Given the description of an element on the screen output the (x, y) to click on. 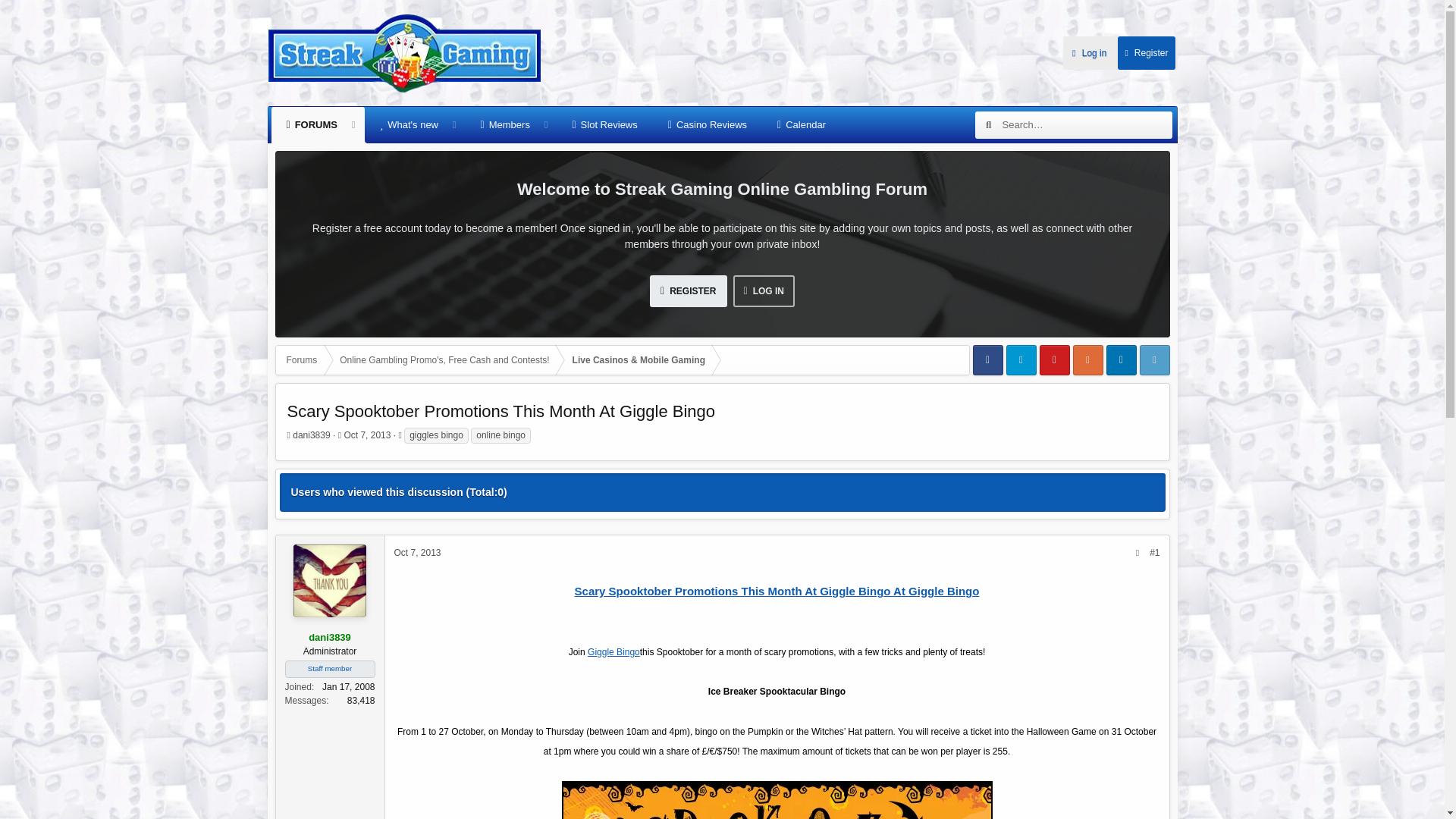
Oct 7, 2013 at 3:06 PM (417, 552)
Oct 7, 2013 at 3:06 PM (366, 434)
What's new (408, 125)
FORUMS (311, 125)
Register (1145, 52)
Slot Reviews (604, 125)
Members (504, 125)
REGISTER (687, 291)
Forums (302, 359)
Calendar (801, 125)
LOG IN (762, 291)
Casino Reviews (706, 125)
Log in (1088, 52)
